Given the description of an element on the screen output the (x, y) to click on. 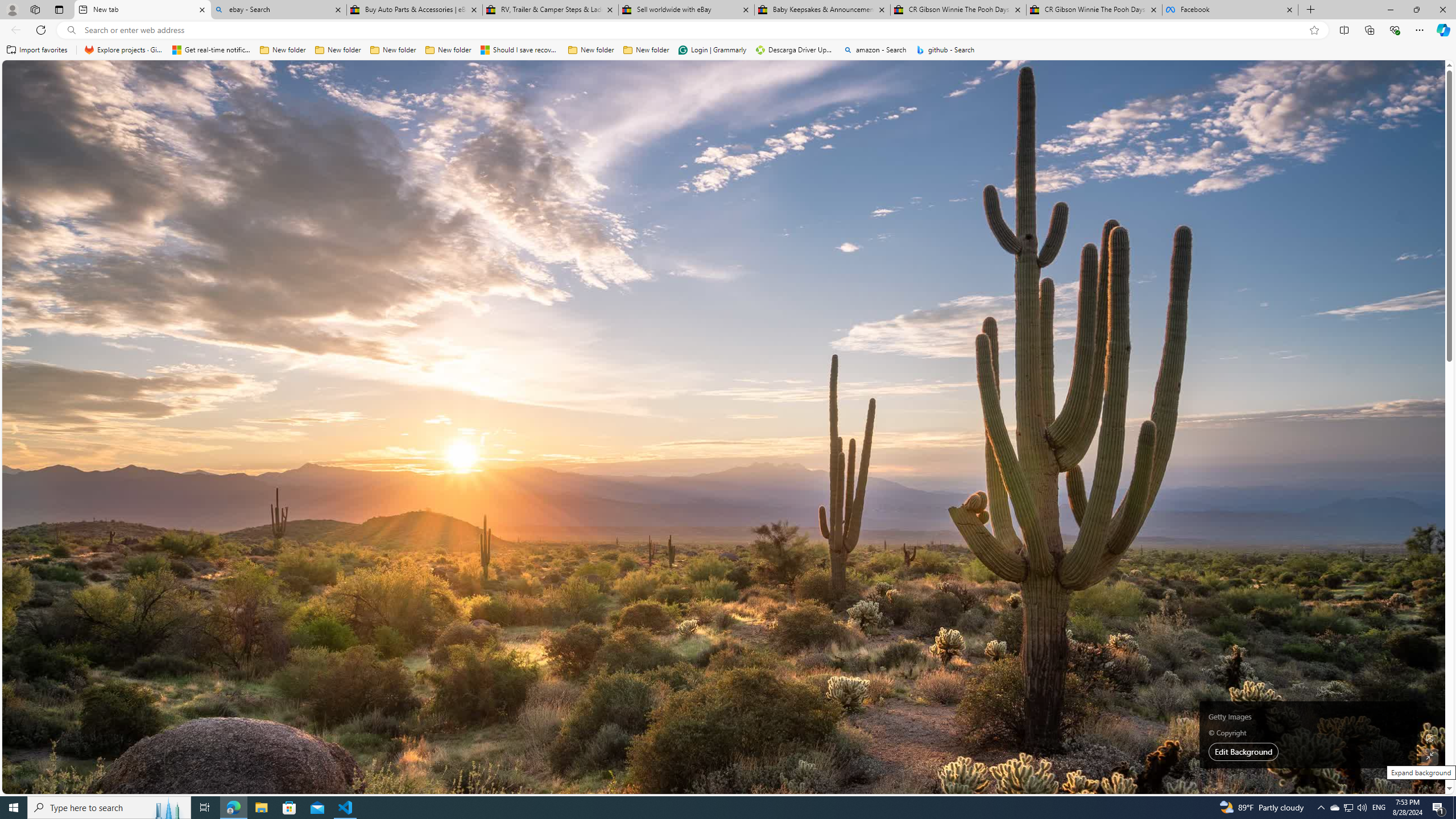
Search icon (70, 29)
Xbox (1025, 538)
View comments 96 Comment (6, 327)
182 Like (835, 505)
hotels-header-icon (1006, 358)
Add a site (916, 126)
